Given the description of an element on the screen output the (x, y) to click on. 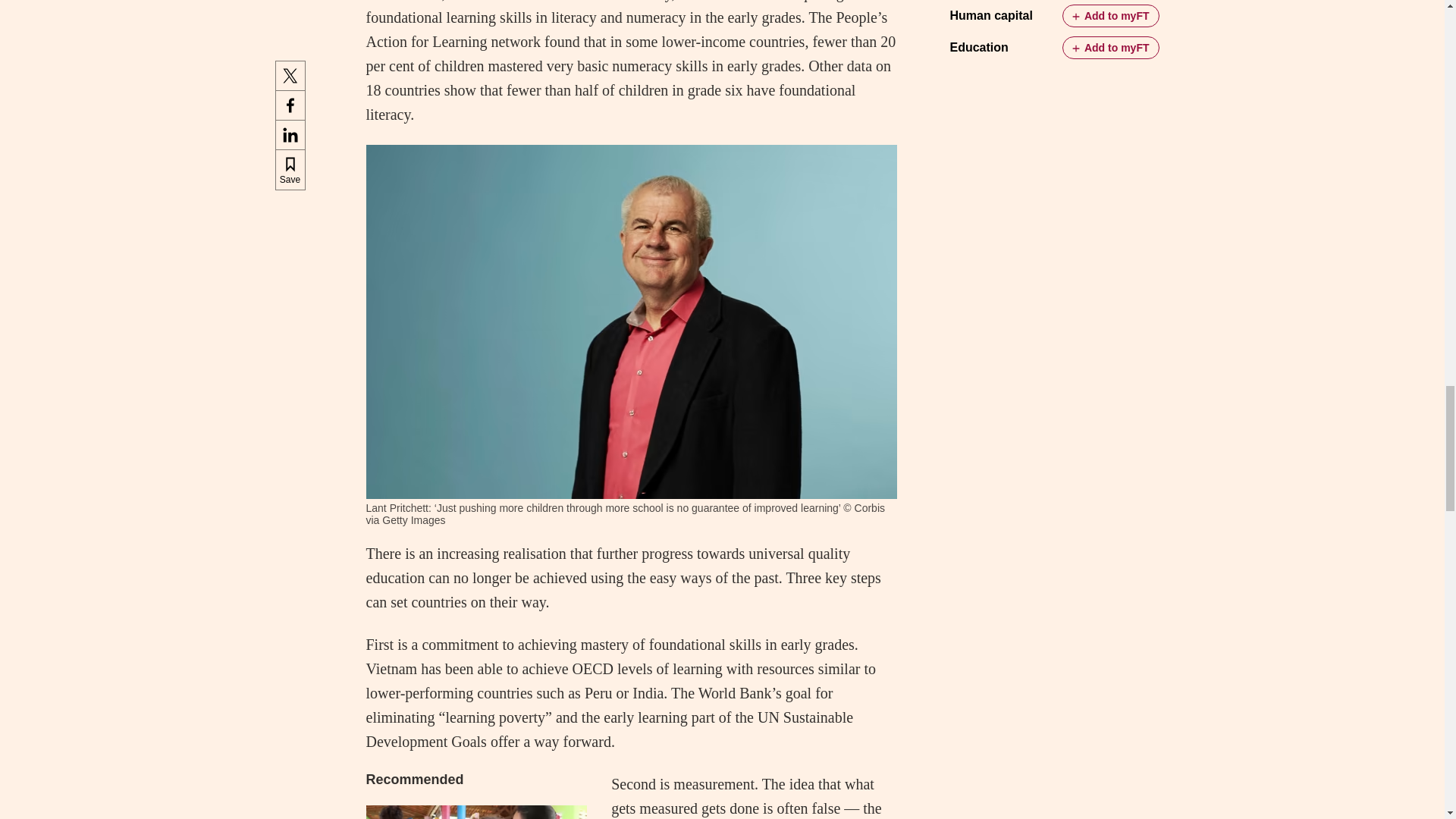
Add Education to myFT (1110, 47)
Add Human capital to myFT (1110, 15)
